Given the description of an element on the screen output the (x, y) to click on. 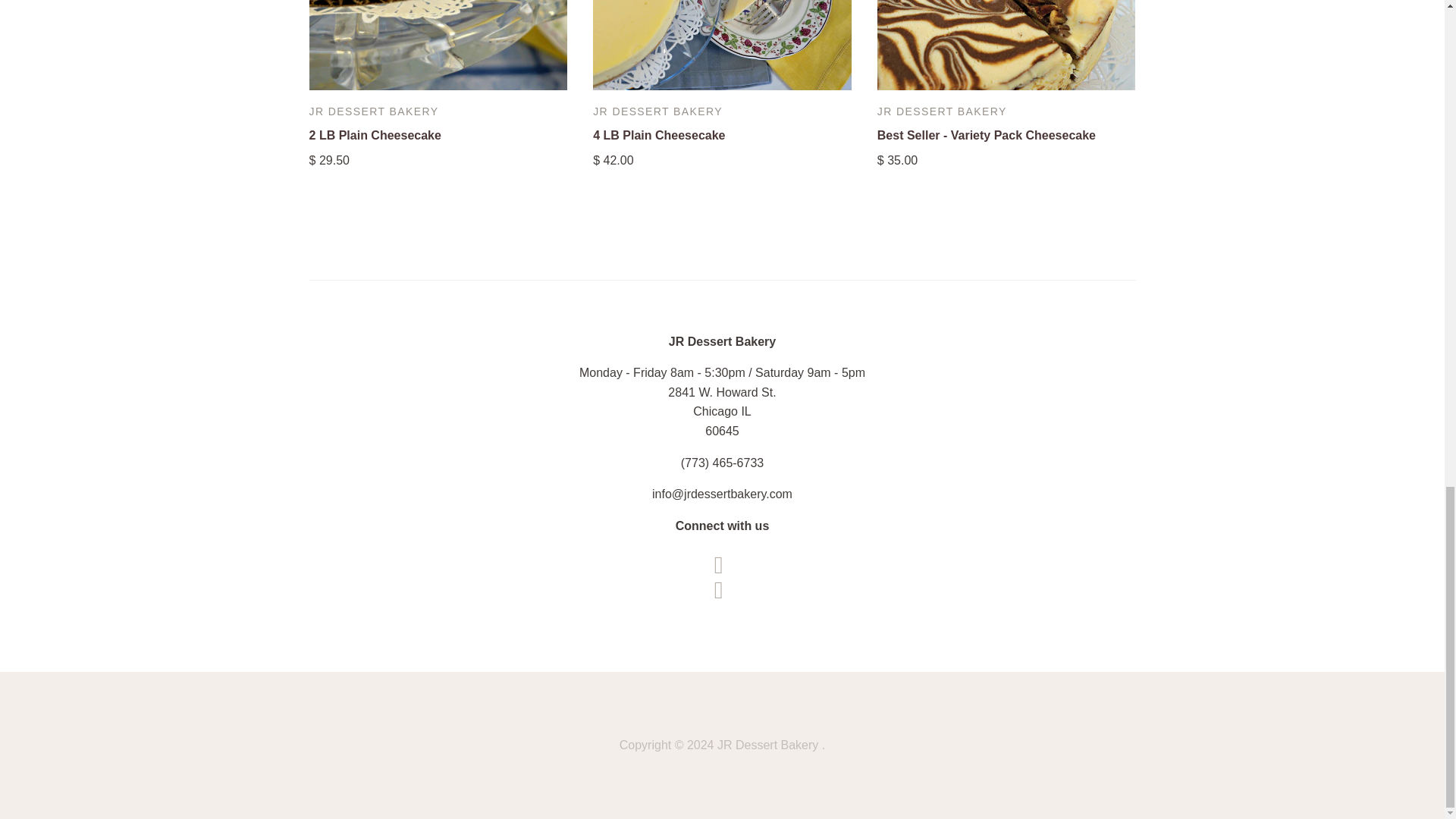
JR DESSERT BAKERY (373, 111)
2 LB Plain Cheesecake (374, 134)
JR DESSERT BAKERY (657, 111)
4 LB Plain Cheesecake (658, 134)
JR DESSERT BAKERY (942, 111)
Best Seller - Variety Pack Cheesecake (986, 134)
